Given the description of an element on the screen output the (x, y) to click on. 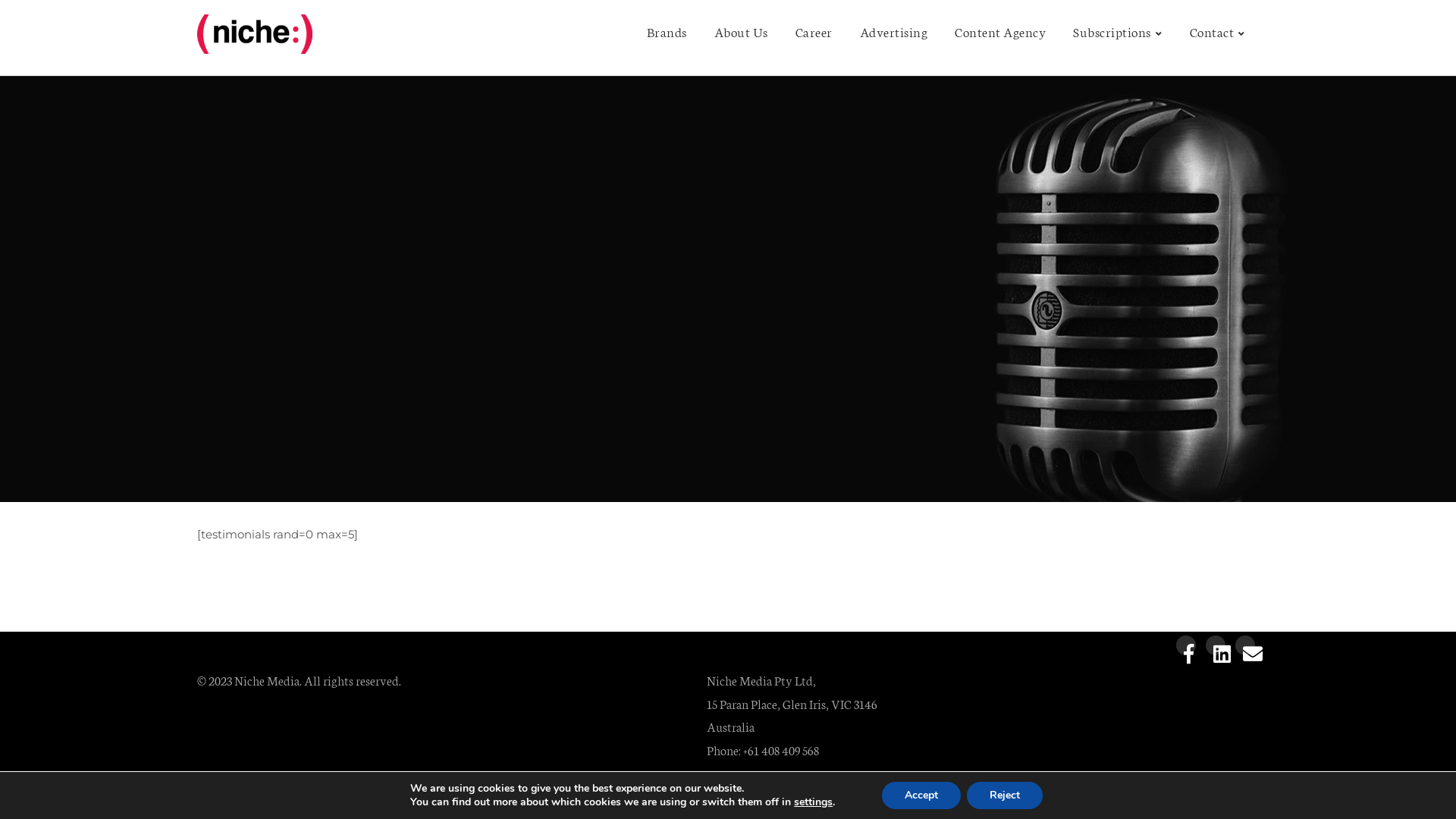
About Us Element type: text (740, 31)
Brands Element type: text (665, 31)
Facebook Element type: hover (1185, 645)
Career Element type: text (813, 31)
Advertising Element type: text (893, 31)
Content Agency Element type: text (1000, 31)
Accept Element type: text (920, 795)
Reject Element type: text (1004, 795)
Contact Element type: text (1216, 31)
Email Element type: hover (1245, 645)
LinkedIn Element type: hover (1215, 645)
settings Element type: text (812, 802)
Subscriptions Element type: text (1117, 31)
Niche Media Element type: hover (254, 37)
+61 408 409 568 Element type: text (781, 749)
